Given the description of an element on the screen output the (x, y) to click on. 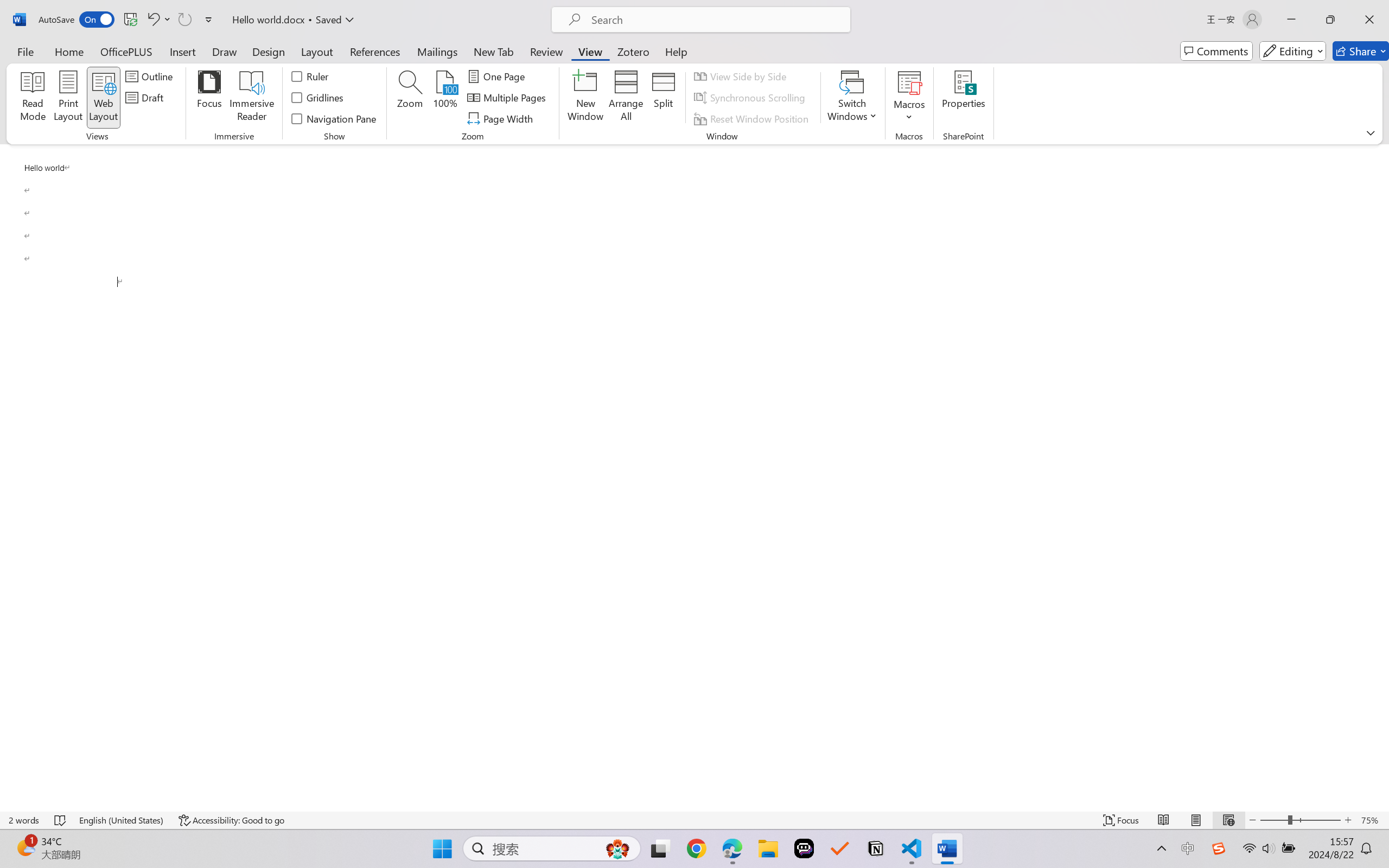
Close (1369, 19)
Review (546, 51)
Insert (182, 51)
Read Mode (1163, 819)
Print Layout (1196, 819)
Focus (209, 97)
Web Layout (1228, 819)
Zoom (1300, 819)
AutomationID: DynamicSearchBoxGleamImage (617, 848)
Quick Access Toolbar (127, 19)
Multiple Pages (507, 97)
Class: Image (1218, 847)
References (375, 51)
